Given the description of an element on the screen output the (x, y) to click on. 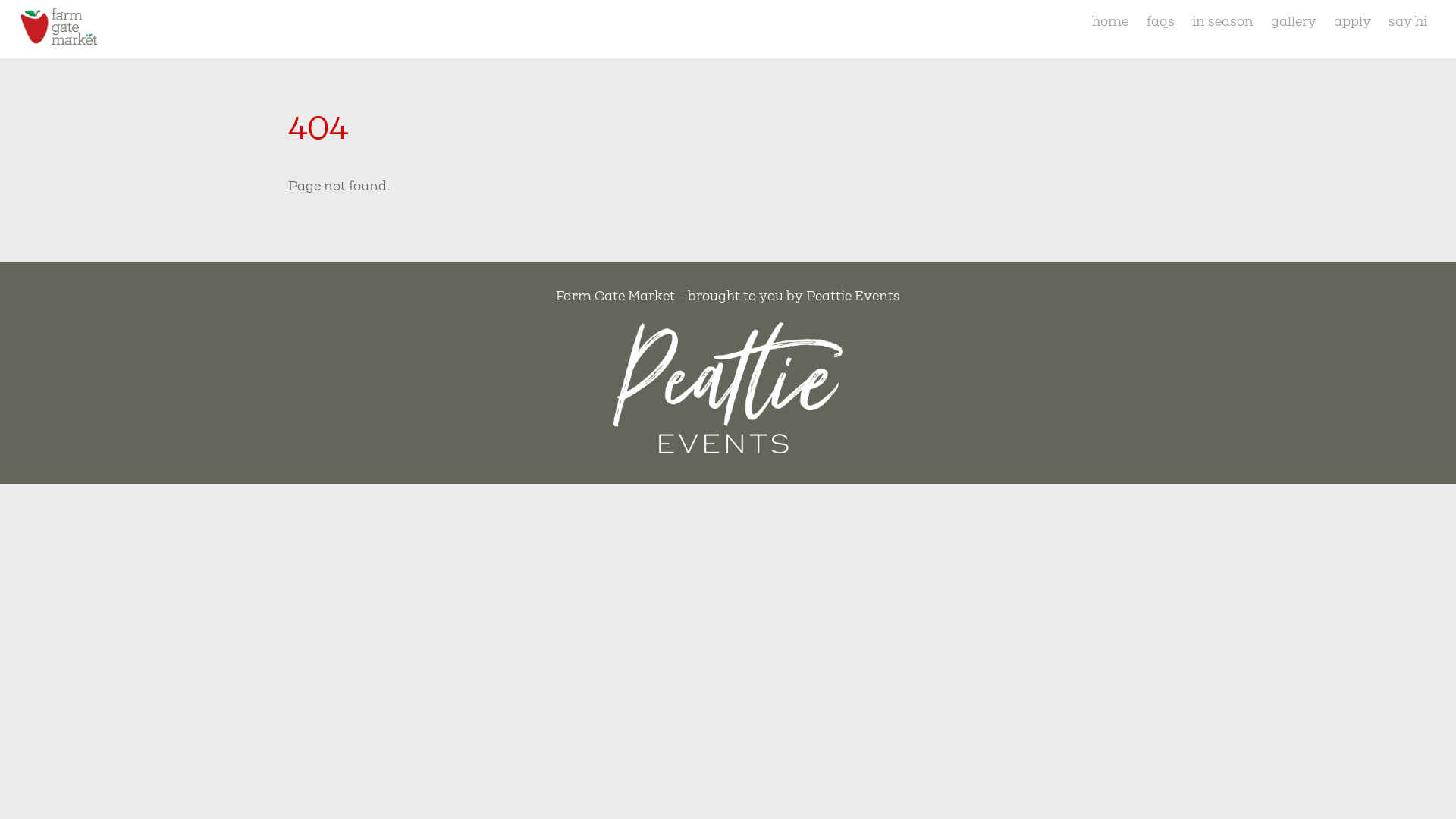
say hi Element type: text (1407, 20)
tas-farmgate-market-logo Element type: hover (59, 25)
gallery Element type: text (1293, 20)
Farm Gate Market Element type: hover (59, 36)
apply Element type: text (1352, 20)
home Element type: text (1110, 20)
in season Element type: text (1222, 20)
faqs Element type: text (1160, 20)
